Given the description of an element on the screen output the (x, y) to click on. 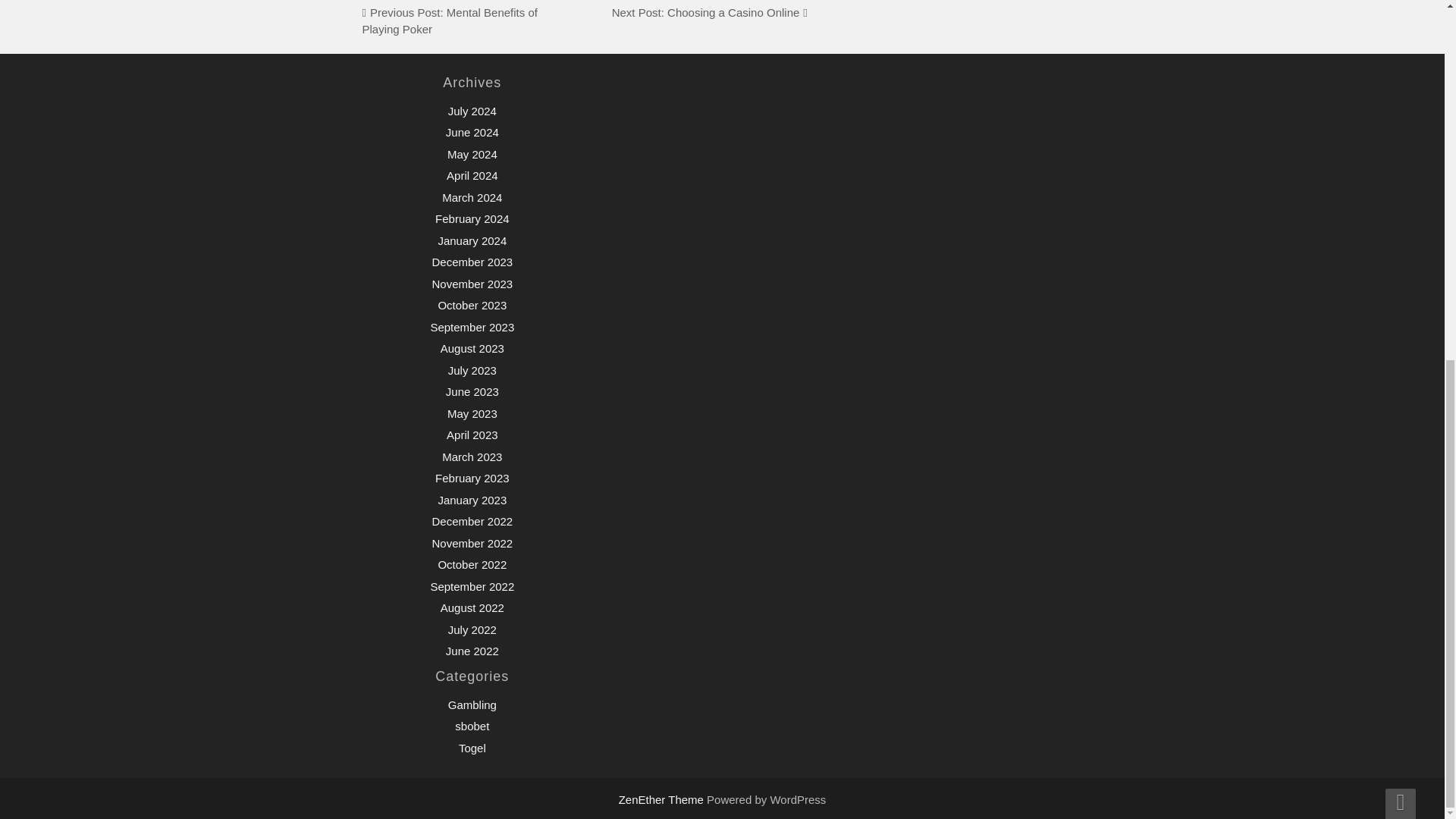
September 2023 (471, 327)
June 2024 (472, 132)
April 2024 (471, 174)
February 2023 (472, 477)
August 2023 (472, 348)
August 2022 (472, 607)
January 2024 (472, 240)
May 2024 (471, 154)
July 2022 (472, 629)
November 2022 (471, 543)
April 2023 (471, 434)
July 2023 (472, 369)
March 2023 (472, 456)
February 2024 (472, 218)
May 2023 (471, 413)
